Given the description of an element on the screen output the (x, y) to click on. 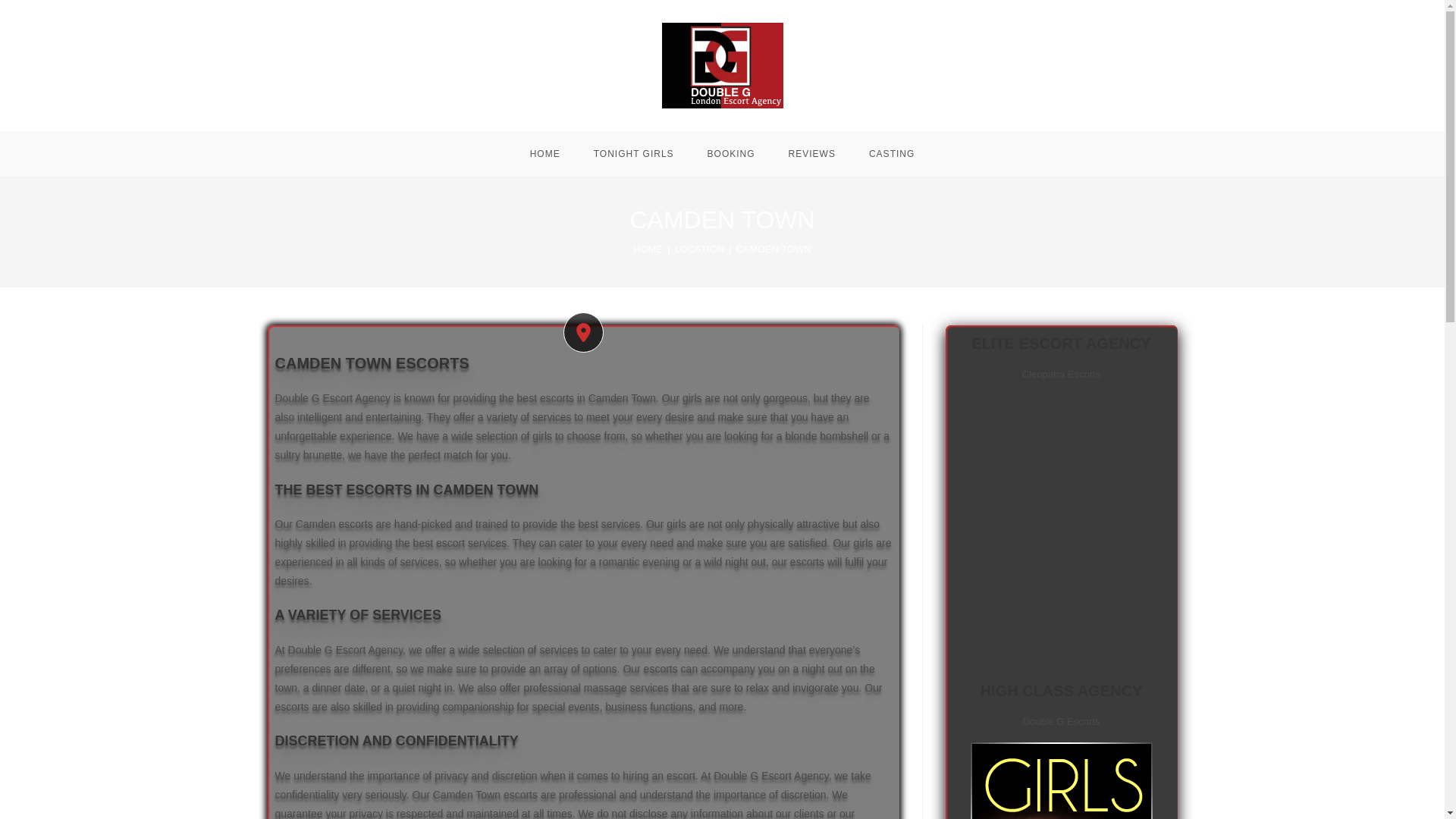
LOCATION (700, 248)
CASTING (891, 153)
HOME (544, 153)
TONIGHT GIRLS (633, 153)
REVIEWS (811, 153)
BOOKING (730, 153)
CAMDEN TOWN (773, 248)
HOME (647, 248)
